Given the description of an element on the screen output the (x, y) to click on. 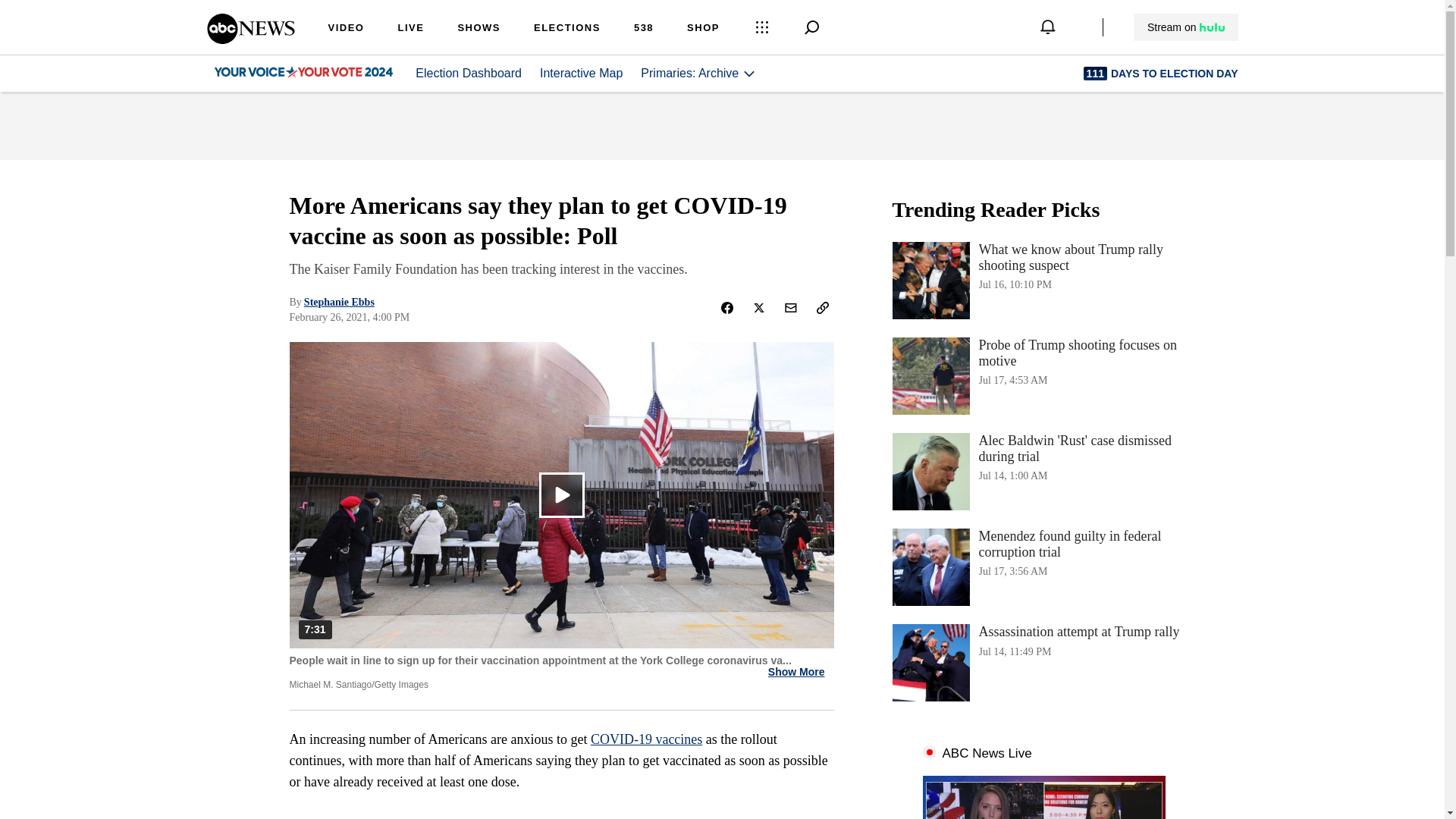
Show More (1043, 375)
Interactive Map (796, 671)
COVID-19 (1043, 662)
Stream on (581, 73)
Stephanie Ebbs (623, 739)
SHOWS (1185, 27)
vaccines (339, 301)
SHOP (478, 28)
538 (678, 739)
ELECTIONS (703, 28)
